Given the description of an element on the screen output the (x, y) to click on. 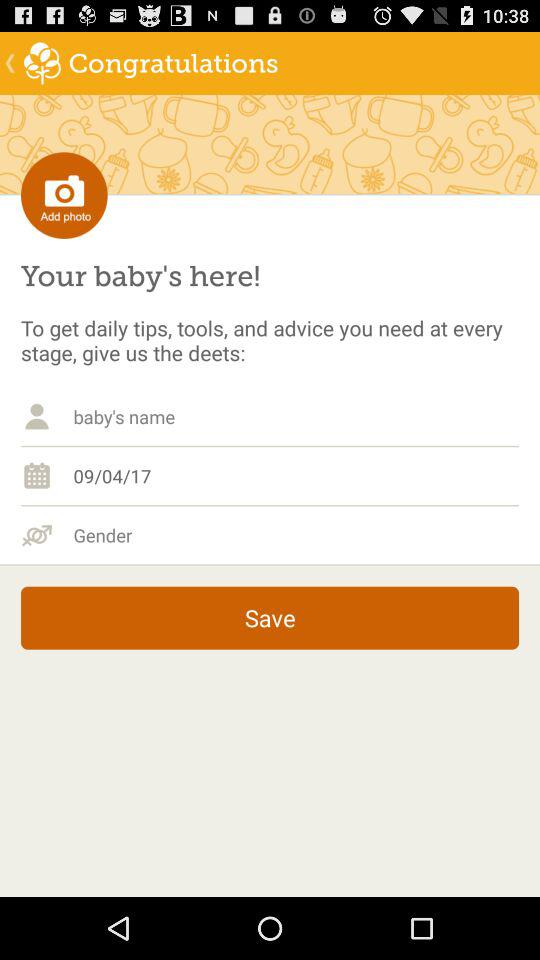
turn on save item (270, 617)
